Given the description of an element on the screen output the (x, y) to click on. 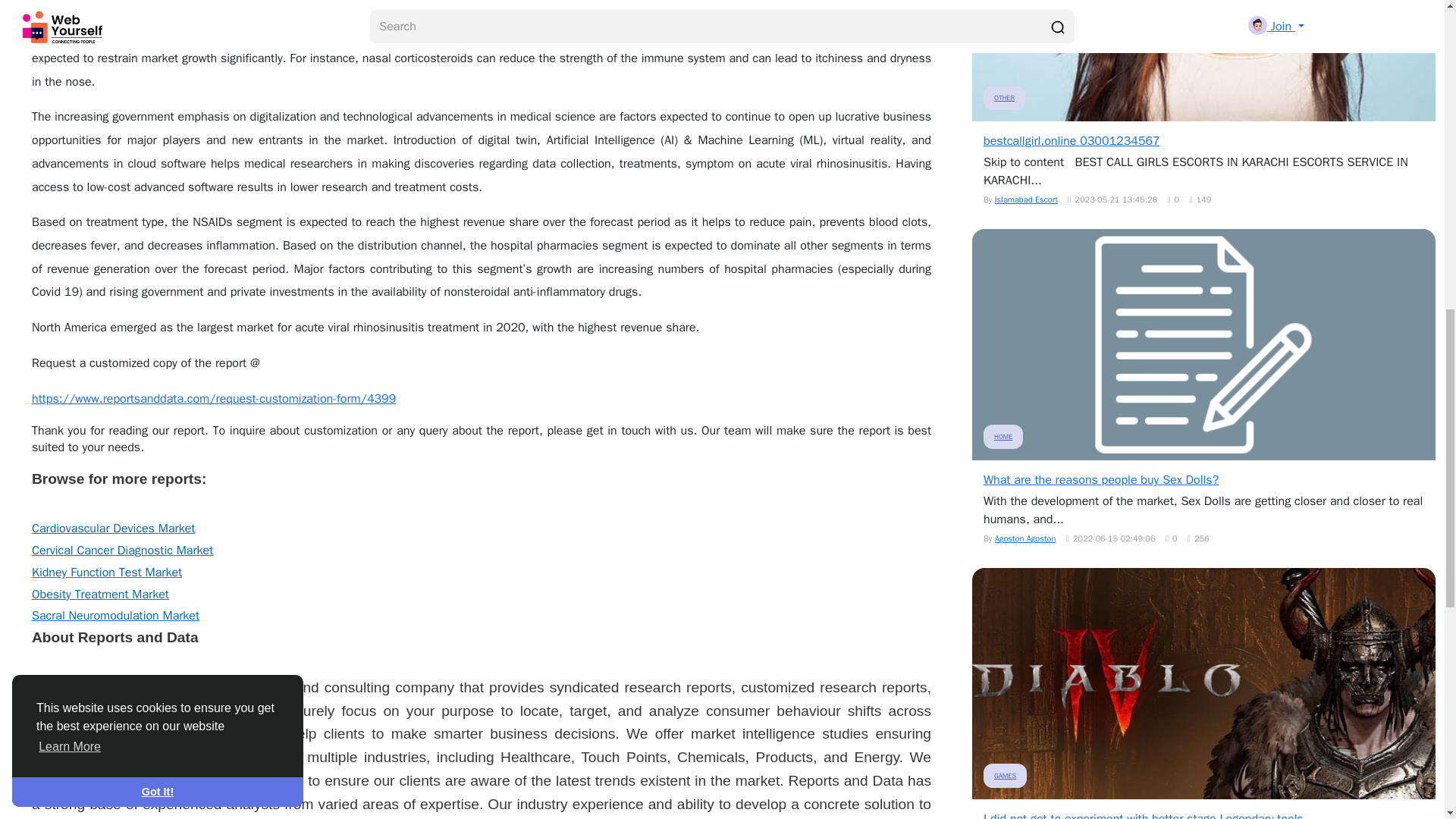
Cardiovascular Devices Market (113, 528)
Cervical Cancer Diagnostic Market (122, 549)
Kidney Function Test Market (107, 572)
Sacral Neuromodulation Market (115, 615)
Obesity Treatment Market (100, 594)
